Given the description of an element on the screen output the (x, y) to click on. 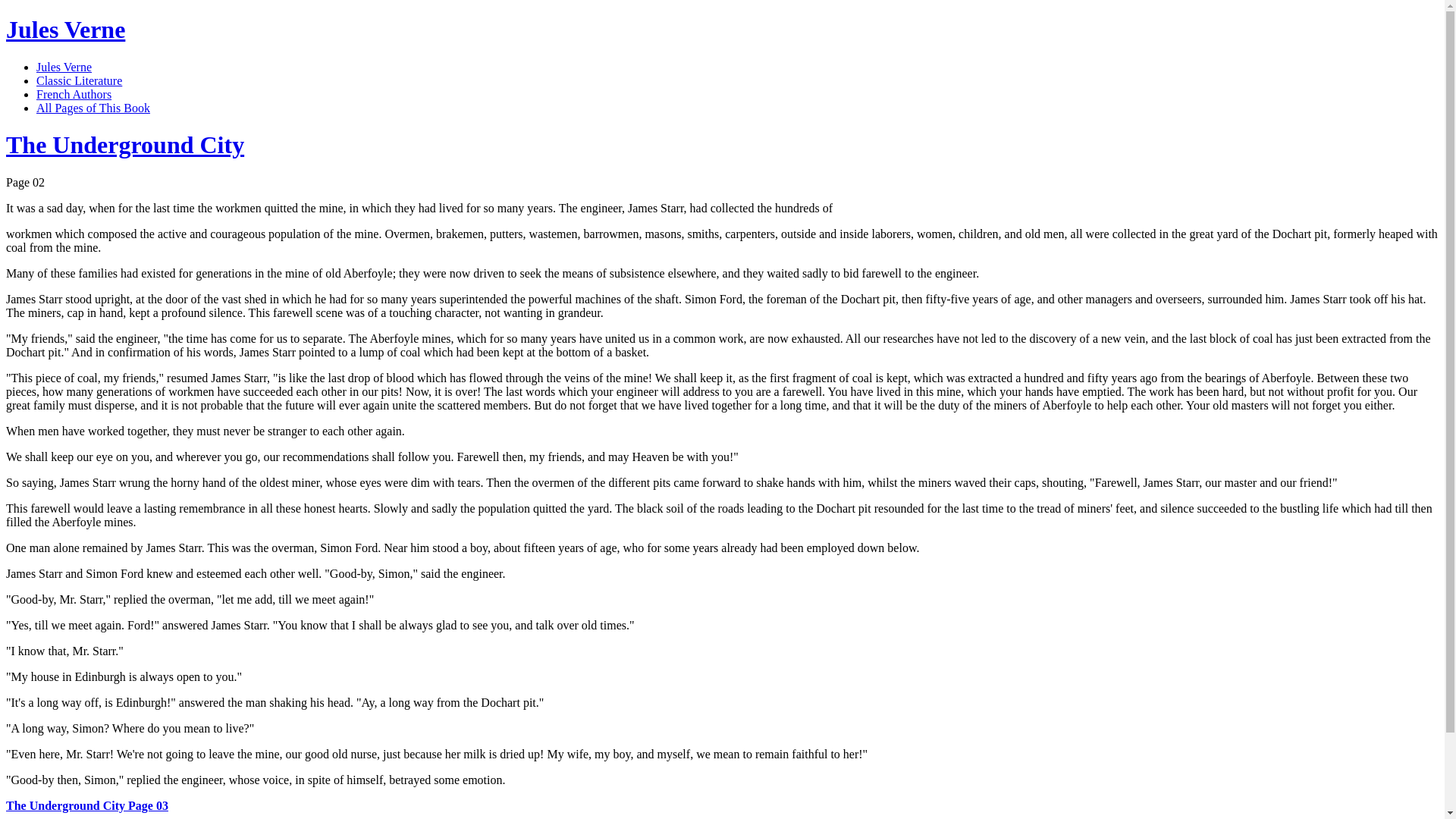
Classic Literature (79, 80)
Jules Verne (63, 66)
The Underground City Page 03 (86, 805)
Jules Verne (65, 29)
The Underground City (124, 144)
French Authors (74, 93)
All Pages of This Book (92, 107)
